Given the description of an element on the screen output the (x, y) to click on. 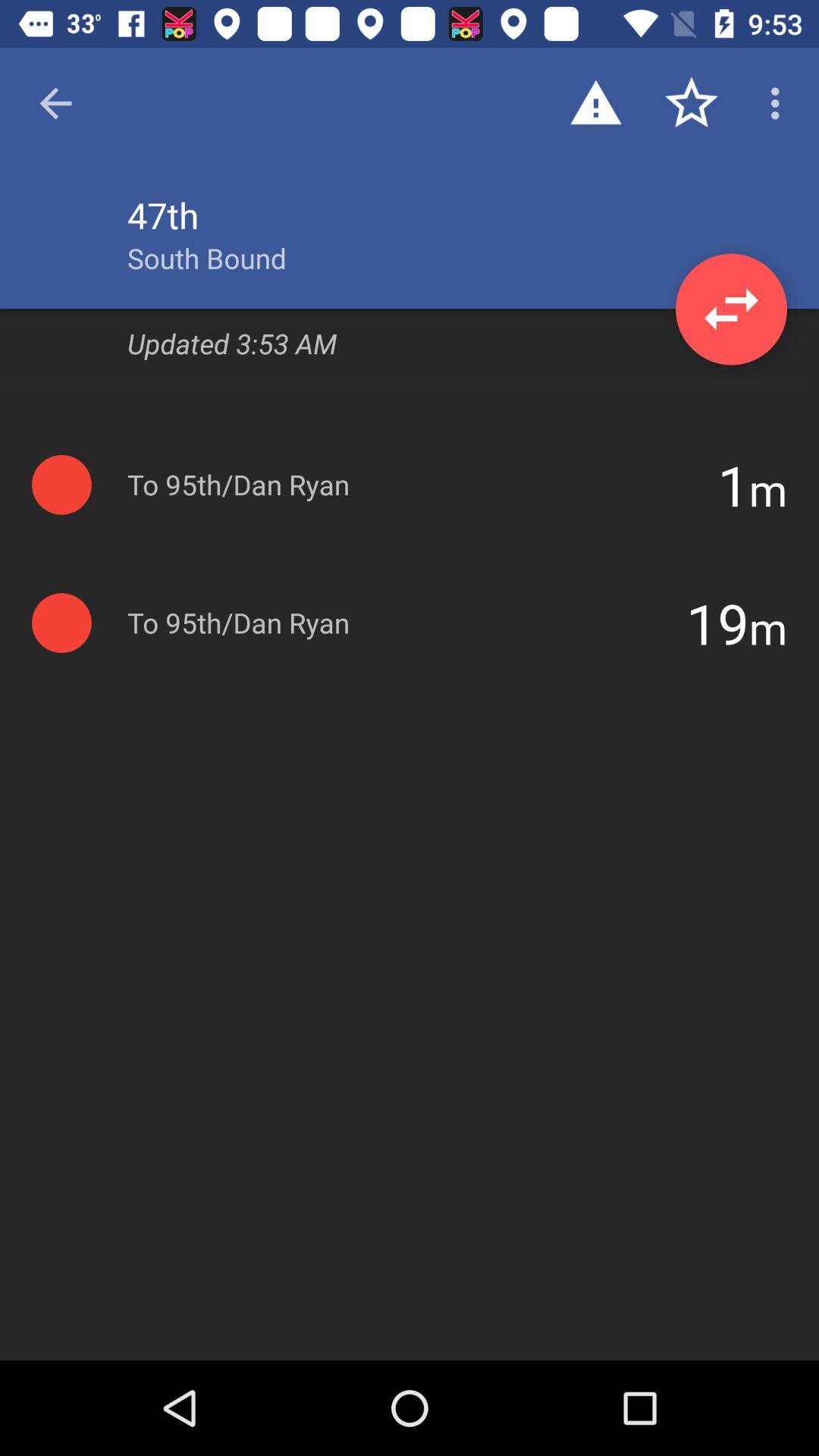
travel direction (731, 309)
